Given the description of an element on the screen output the (x, y) to click on. 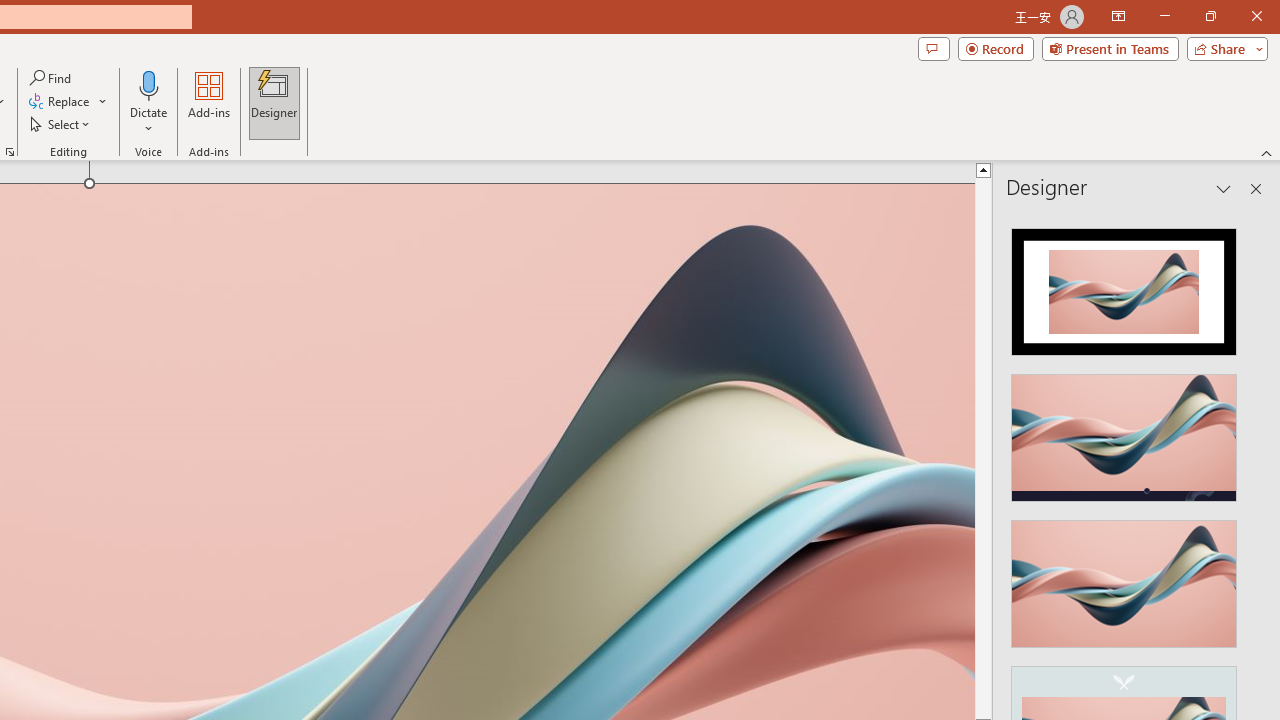
Design Idea (1124, 577)
Recommended Design: Design Idea (1124, 286)
